Given the description of an element on the screen output the (x, y) to click on. 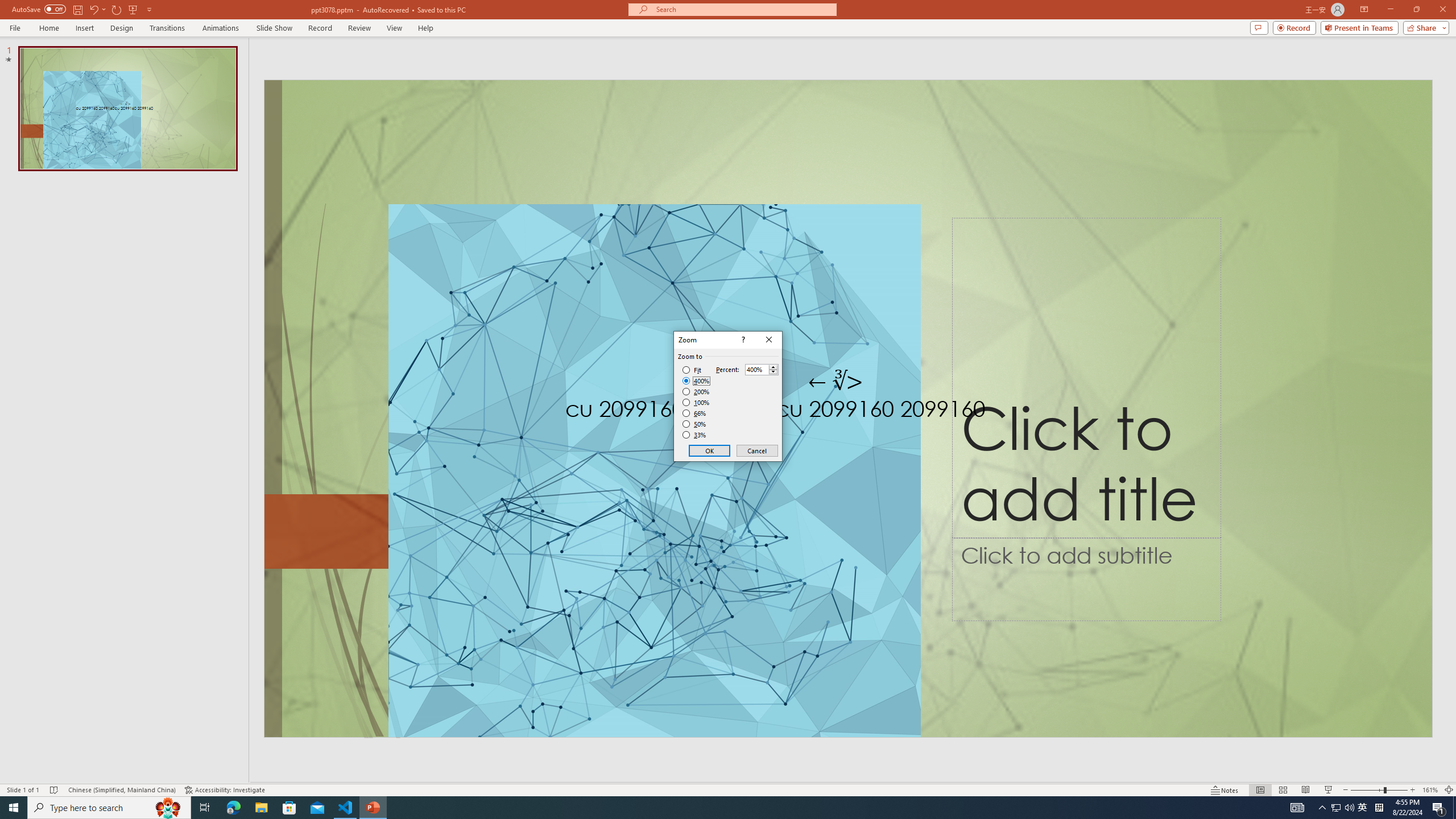
OK (709, 450)
Context help (742, 339)
50% (694, 424)
